Given the description of an element on the screen output the (x, y) to click on. 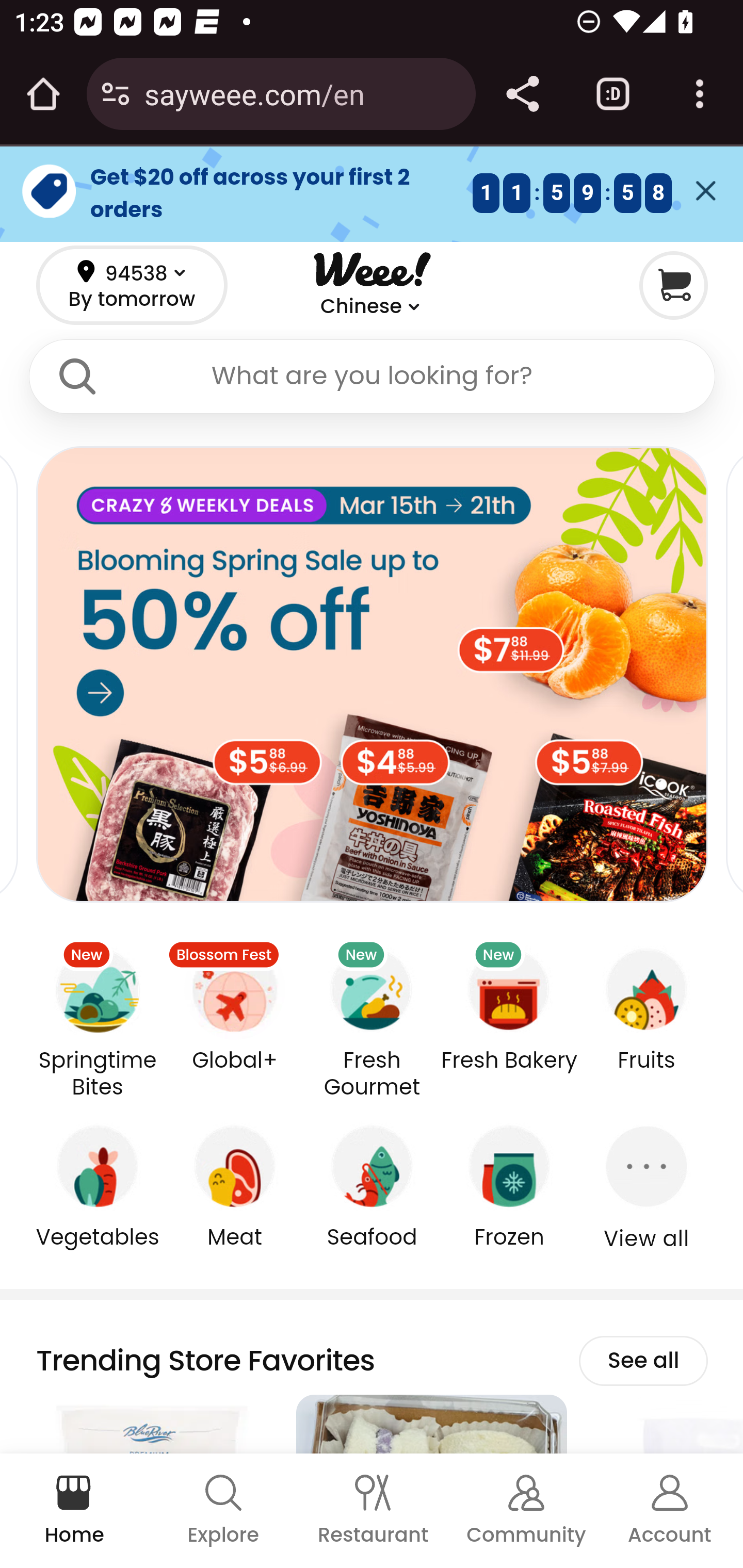
Open the home page (43, 93)
Connection is secure (115, 93)
Share (522, 93)
Switch or close tabs (612, 93)
Customize and control Google Chrome (699, 93)
sayweee.com/en (302, 92)
My cart (673, 284)
What are you looking for? (371, 376)
Category item Fruits weee_Fruits Fruits (646, 1005)
Category item Meat weee_Meat Meat (234, 1182)
Category item Seafood weee_Seafood Seafood (372, 1182)
Category item Frozen weee_Frozen Frozen (508, 1182)
